Given the description of an element on the screen output the (x, y) to click on. 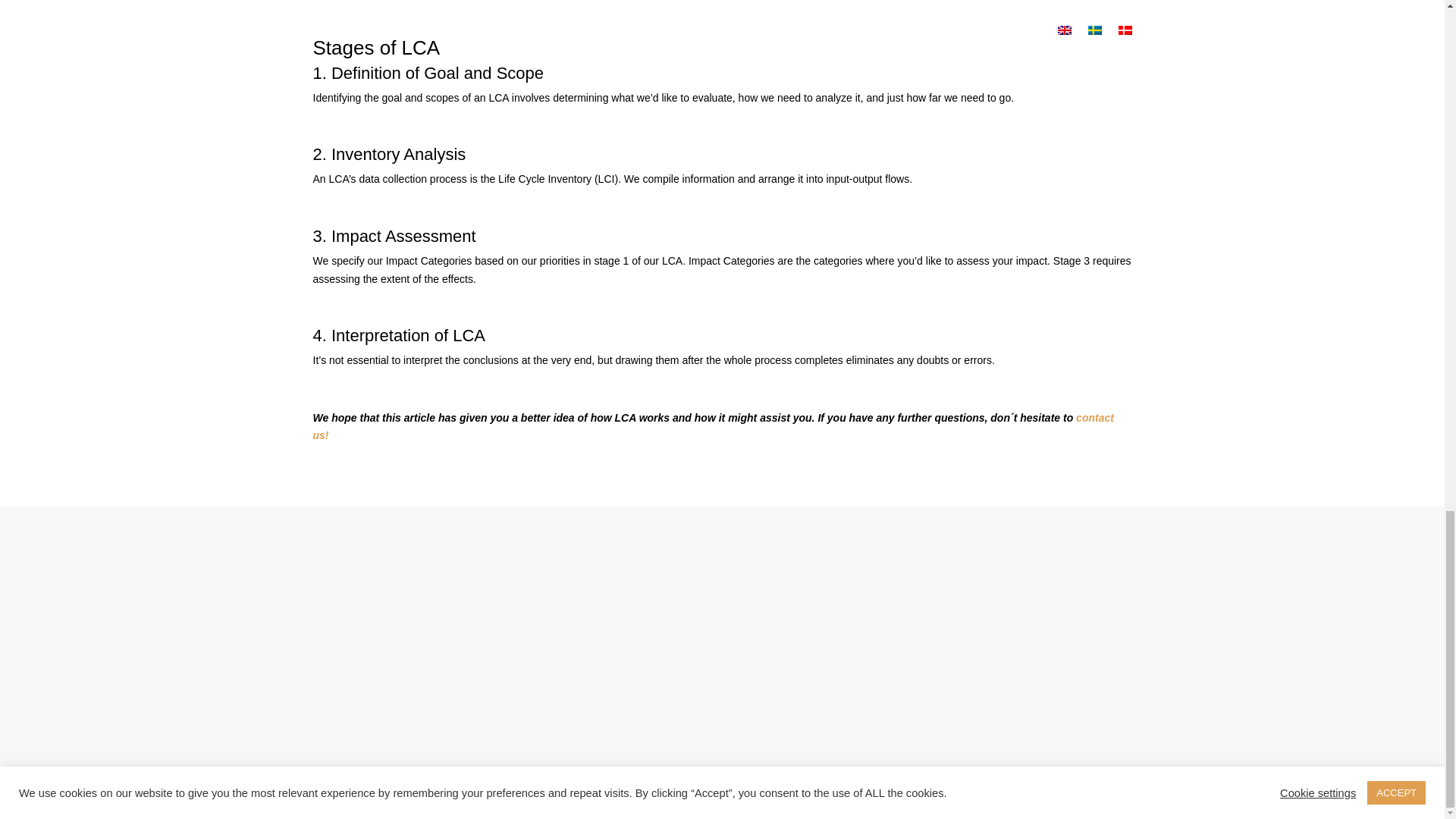
Follow on LinkedIn (1355, 787)
contact us! (713, 426)
